Given the description of an element on the screen output the (x, y) to click on. 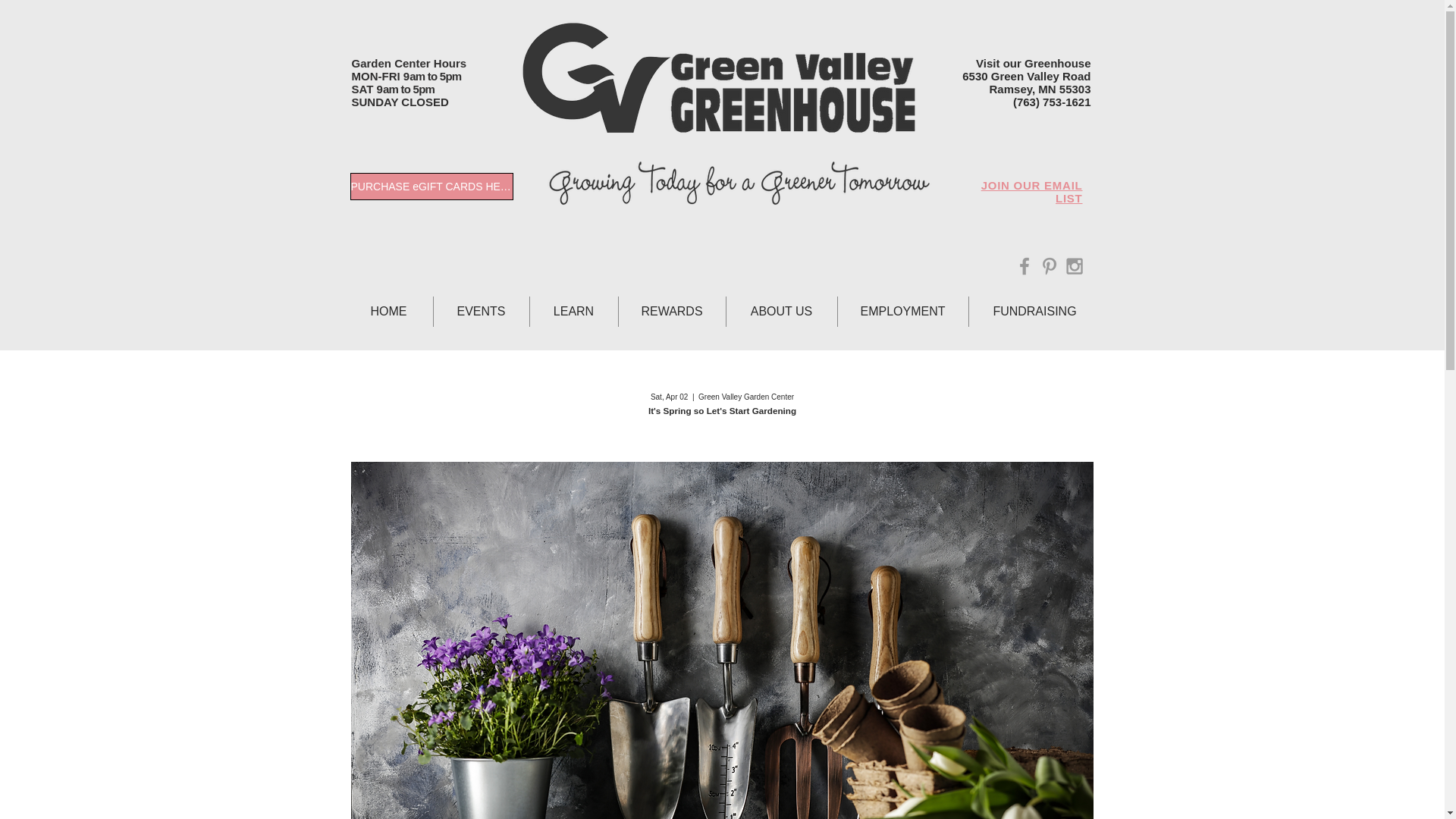
FUNDRAISING (1034, 311)
EMPLOYMENT (902, 311)
ABOUT US (781, 311)
JOIN OUR EMAIL LIST (1032, 191)
LEARN (573, 311)
HOME (387, 311)
REWARDS (671, 311)
Ramsey, MN 55303 (1040, 88)
6530 Green Valley Road (1026, 75)
EVENTS (481, 311)
PURCHASE eGIFT CARDS HERE! (431, 185)
